Given the description of an element on the screen output the (x, y) to click on. 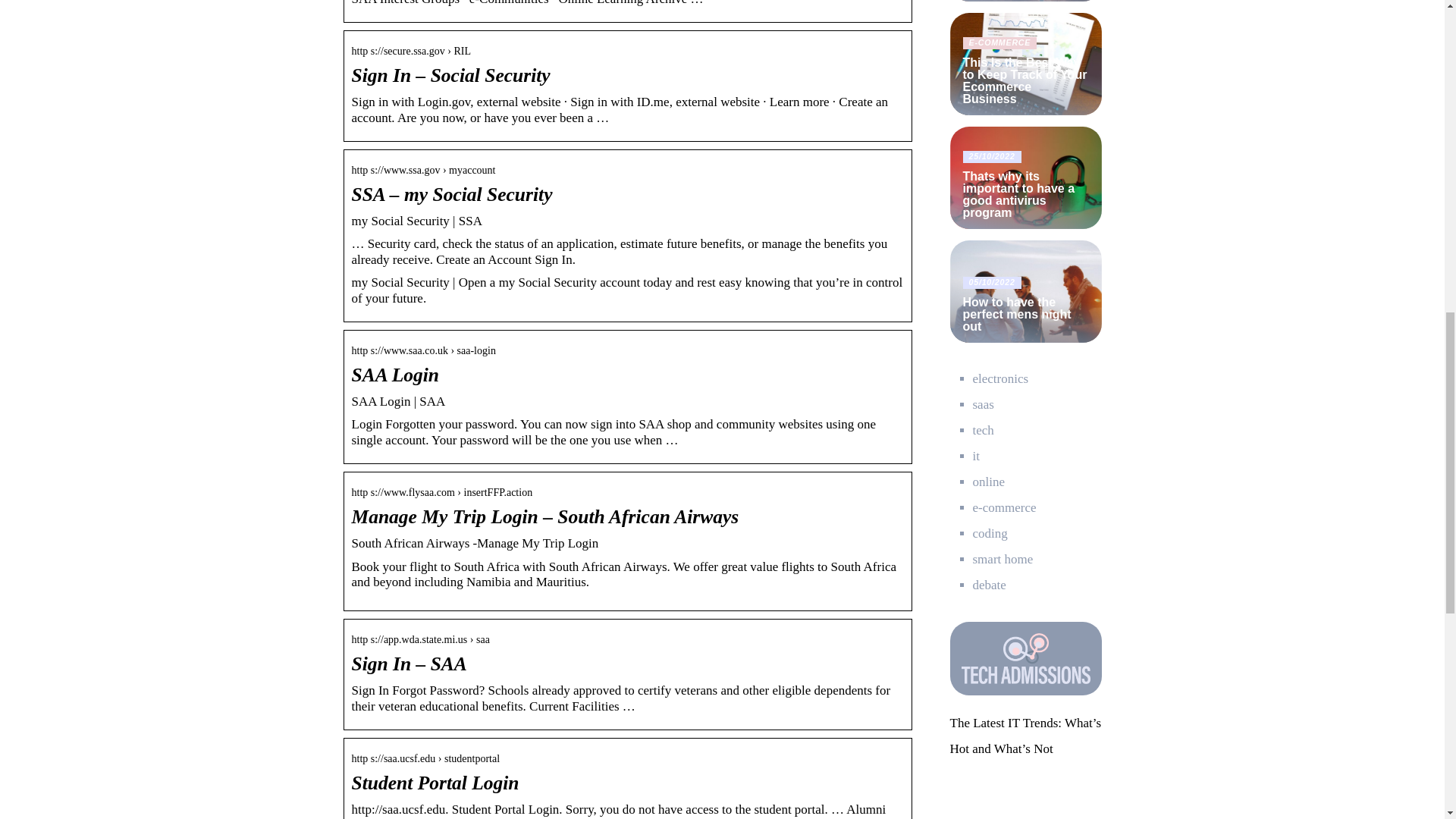
coding (989, 533)
saas (982, 404)
debate (989, 585)
tech (982, 430)
e-commerce (1003, 507)
smart home (1002, 559)
online (988, 481)
electronics (999, 378)
